Given the description of an element on the screen output the (x, y) to click on. 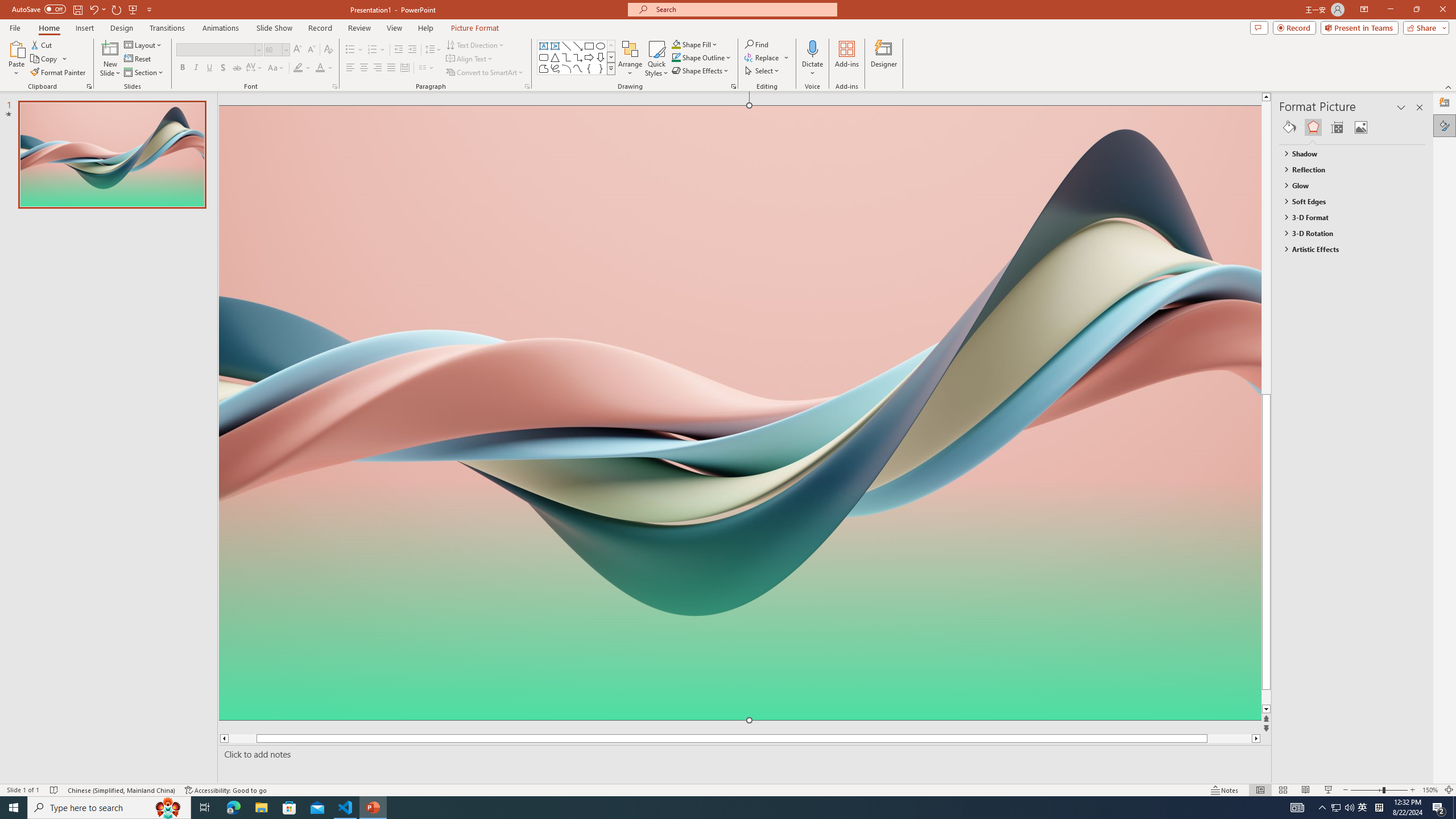
Layout (143, 44)
Class: NetUIScrollBar (1420, 460)
Slide Sorter (1282, 790)
Clear Formatting (327, 49)
Find... (756, 44)
Picture (1361, 126)
Shape Effects (700, 69)
Text Highlight Color (302, 67)
Close (1442, 9)
Designer (1444, 102)
Quick Access Toolbar (82, 9)
Rectangle: Rounded Corners (543, 57)
Font Size (273, 49)
Artistic Effects (1347, 248)
New Slide (110, 58)
